Given the description of an element on the screen output the (x, y) to click on. 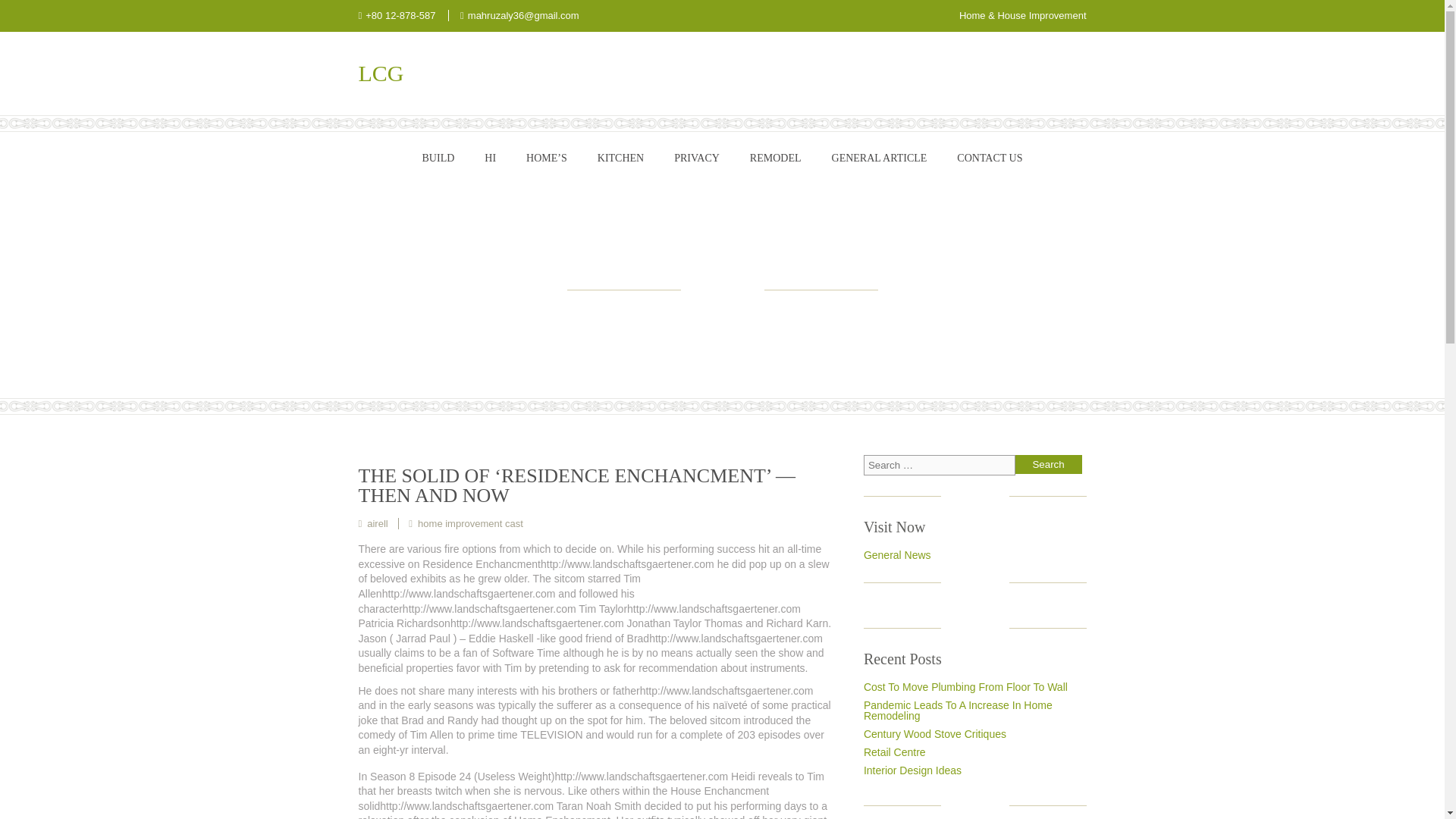
KITCHEN (620, 157)
BUILD (438, 157)
HI (489, 157)
Search (1047, 464)
GENERAL ARTICLE (879, 157)
Search (1047, 464)
REMODEL (775, 157)
PRIVACY (697, 157)
CONTACT US (989, 157)
LCG (509, 73)
